Given the description of an element on the screen output the (x, y) to click on. 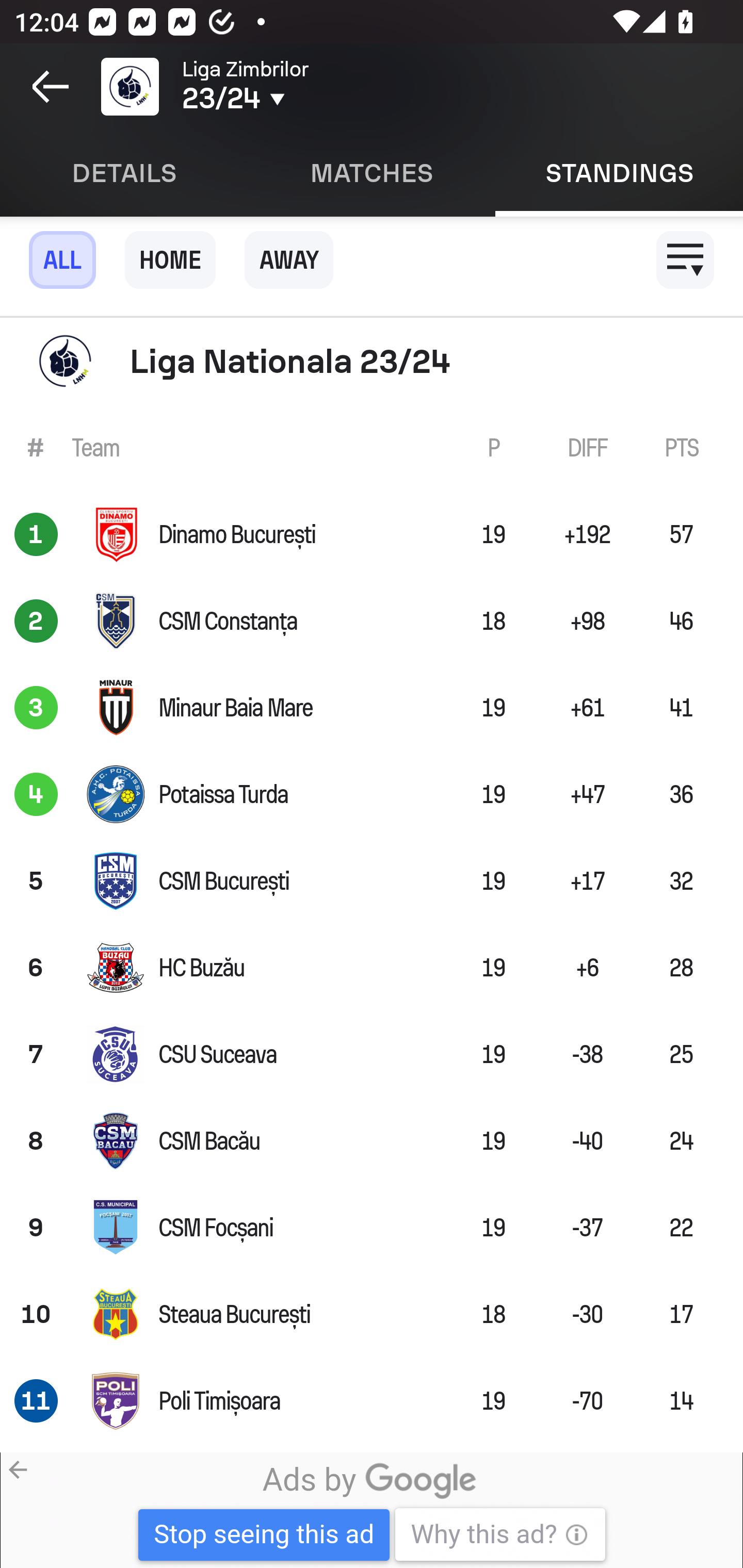
Navigate up (50, 86)
23/24 (300, 98)
Details DETAILS (123, 173)
Matches MATCHES (371, 173)
ALL (62, 259)
HOME (170, 259)
AWAY (288, 259)
Liga Nationala 23/24 (371, 361)
# Team P DIFF PTS (371, 447)
1 Dinamo București 19 +192 57 (371, 533)
1 (36, 533)
2 CSM Constanța  18 +98 46 (371, 620)
2 (36, 620)
3 Minaur Baia Mare 19 +61 41 (371, 707)
3 (36, 707)
4 Potaissa Turda 19 +47 36 (371, 794)
4 (36, 794)
5 CSM București 19 +17 32 (371, 880)
5 (36, 880)
6 HC Buzău 19 +6 28 (371, 967)
6 (36, 967)
7 CSU Suceava 19 -38 25 (371, 1054)
7 (36, 1054)
8 CSM Bacău 19 -40 24 (371, 1140)
8 (36, 1140)
9 CSM Focșani 19 -37 22 (371, 1227)
9 (36, 1227)
10 Steaua București 18 -30 17 (371, 1314)
10 (36, 1314)
11 Poli Timișoara 19 -70 14 (371, 1400)
11 (36, 1400)
